Given the description of an element on the screen output the (x, y) to click on. 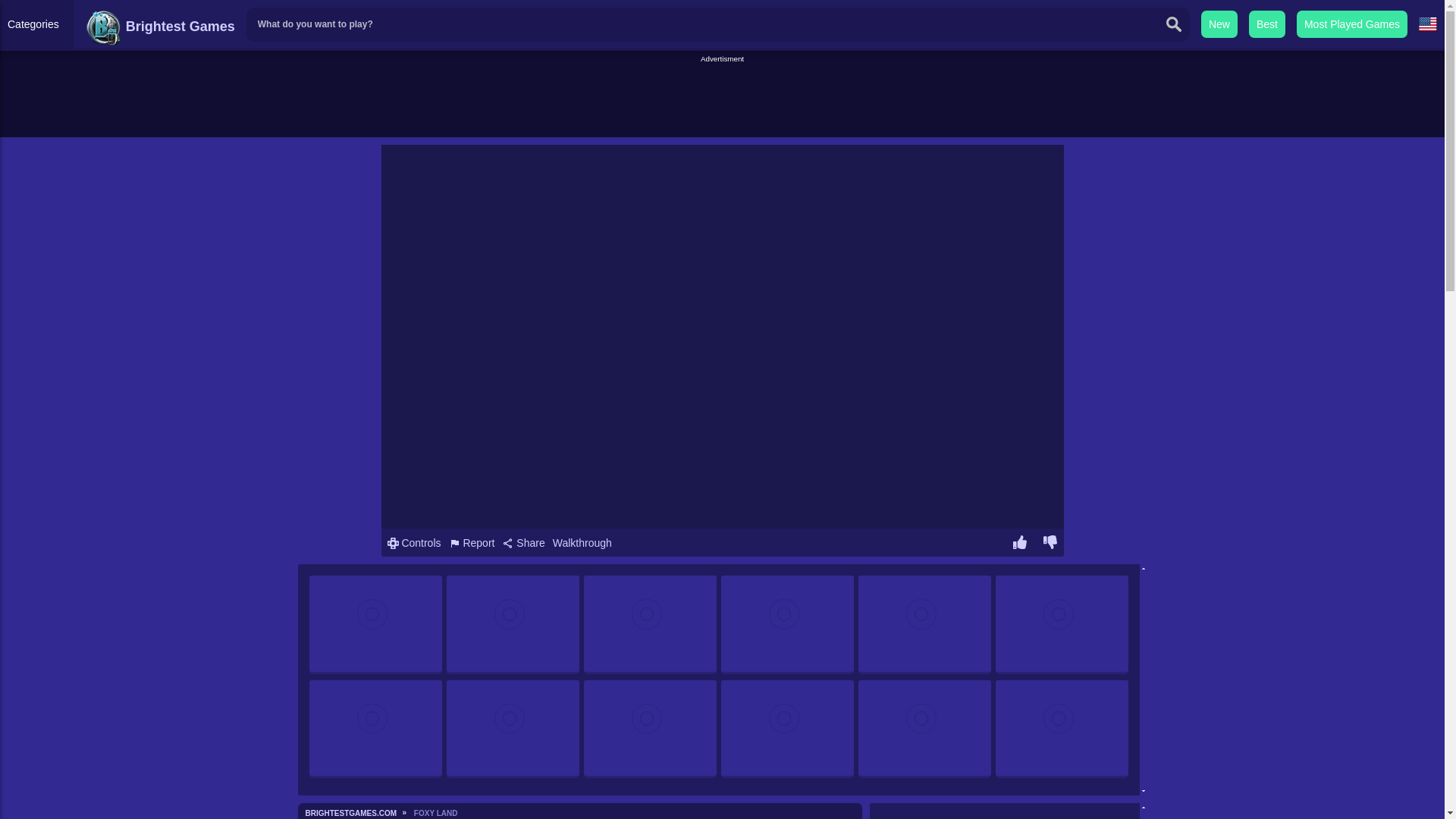
Most Played Games (1352, 23)
English (1427, 24)
Best (1267, 23)
New (1219, 23)
New (1219, 23)
Most Played Games (1352, 23)
Brightest Games (159, 26)
Play Free Online Games (159, 26)
Best (1267, 23)
